Given the description of an element on the screen output the (x, y) to click on. 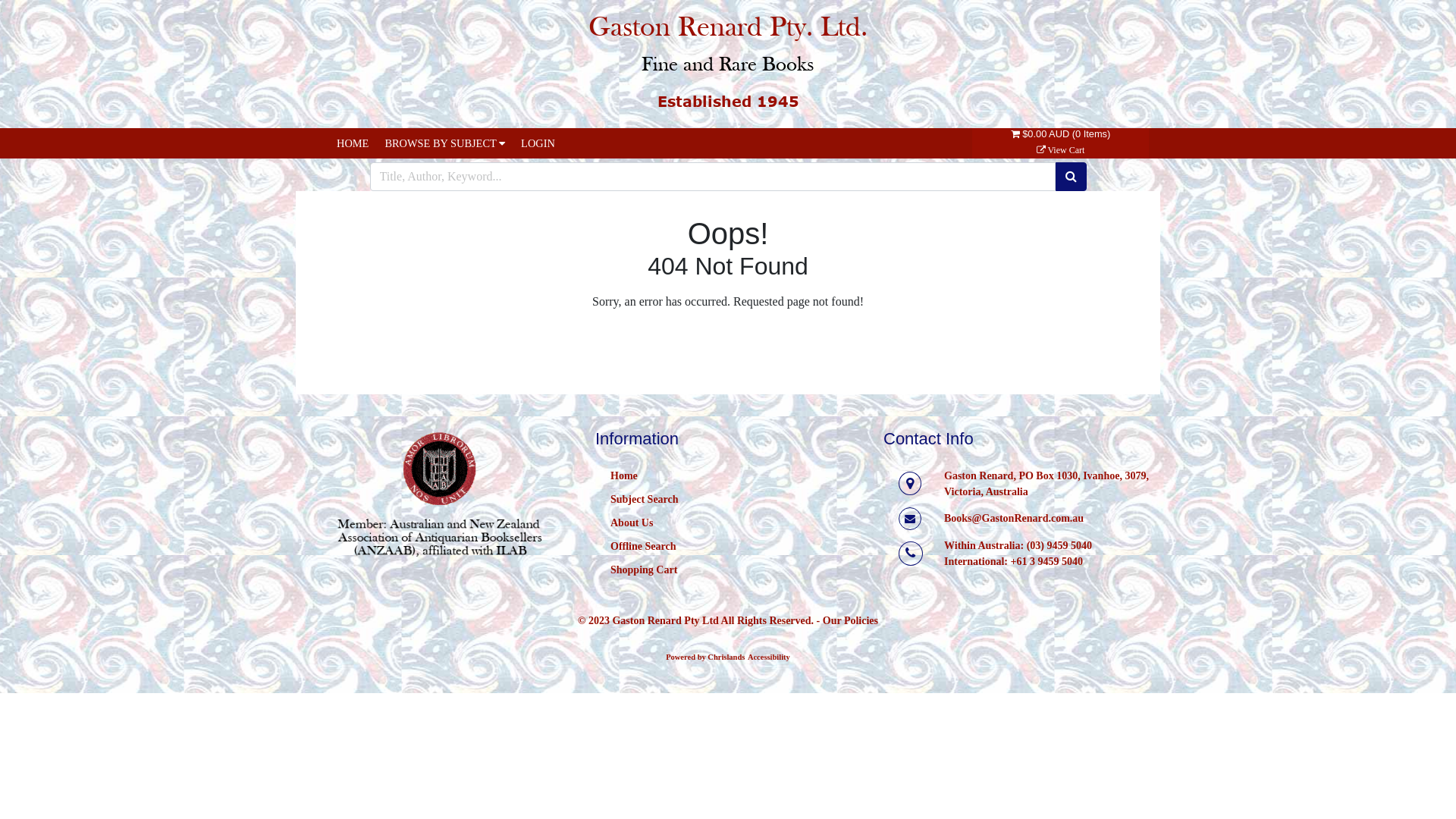
HOME
(CURRENT) Element type: text (352, 143)
Home Element type: text (623, 475)
$0.00 AUD (0 Items) Element type: text (1060, 141)
LOGIN Element type: text (537, 143)
Subject Search Element type: text (644, 499)
About Us Element type: text (631, 522)
Shopping Cart Element type: text (643, 569)
BROWSE BY SUBJECT  Element type: text (444, 143)
 View Cart Element type: text (1060, 149)
Powered by Chrislands Element type: text (704, 656)
Our Policies Element type: text (850, 620)
Offline Search Element type: text (642, 546)
Accessibility Element type: text (768, 656)
Take Me Home Element type: text (724, 340)
Books@GastonRenard.com.au Element type: text (1013, 518)
